Given the description of an element on the screen output the (x, y) to click on. 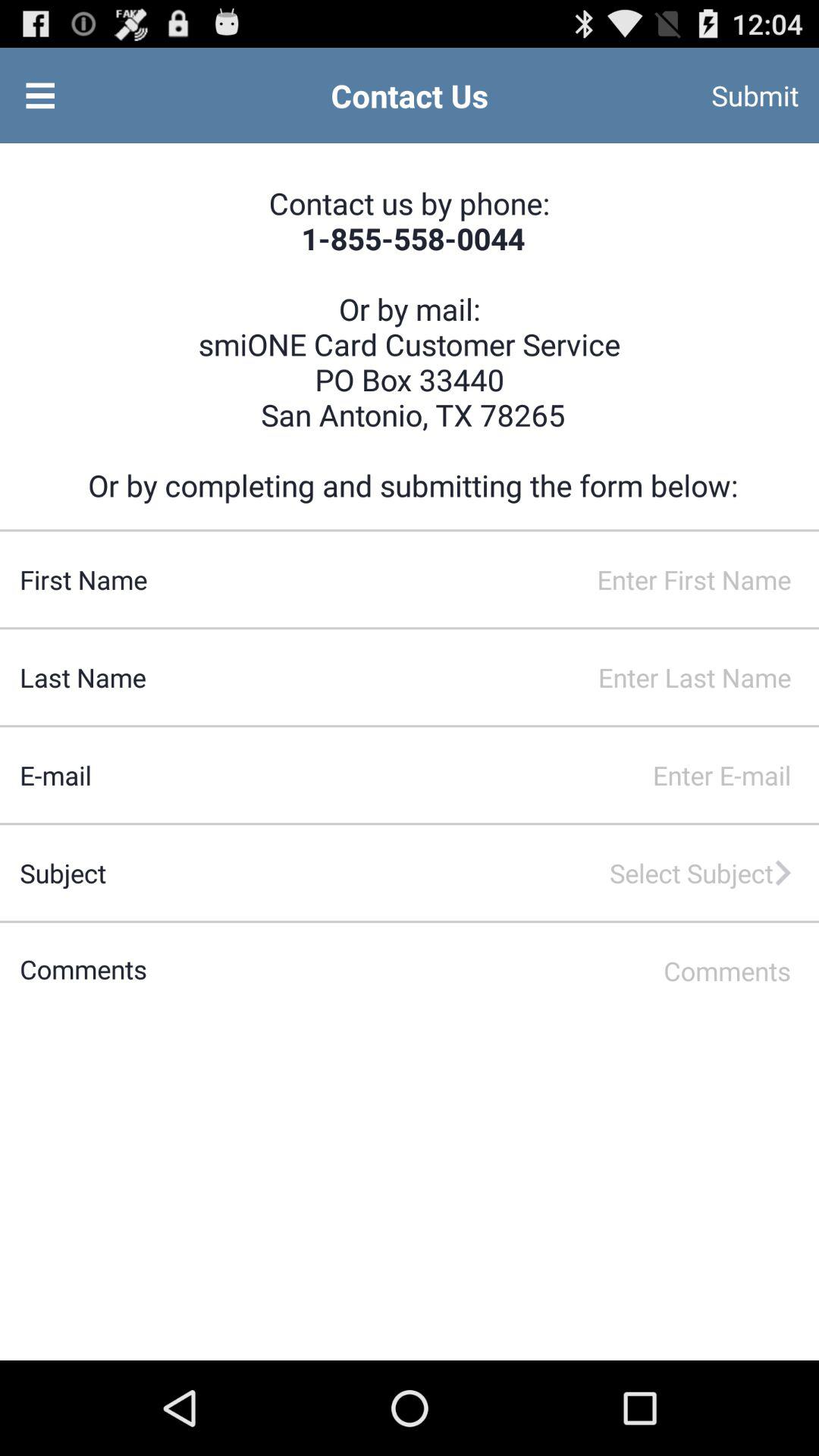
enter email (455, 774)
